Given the description of an element on the screen output the (x, y) to click on. 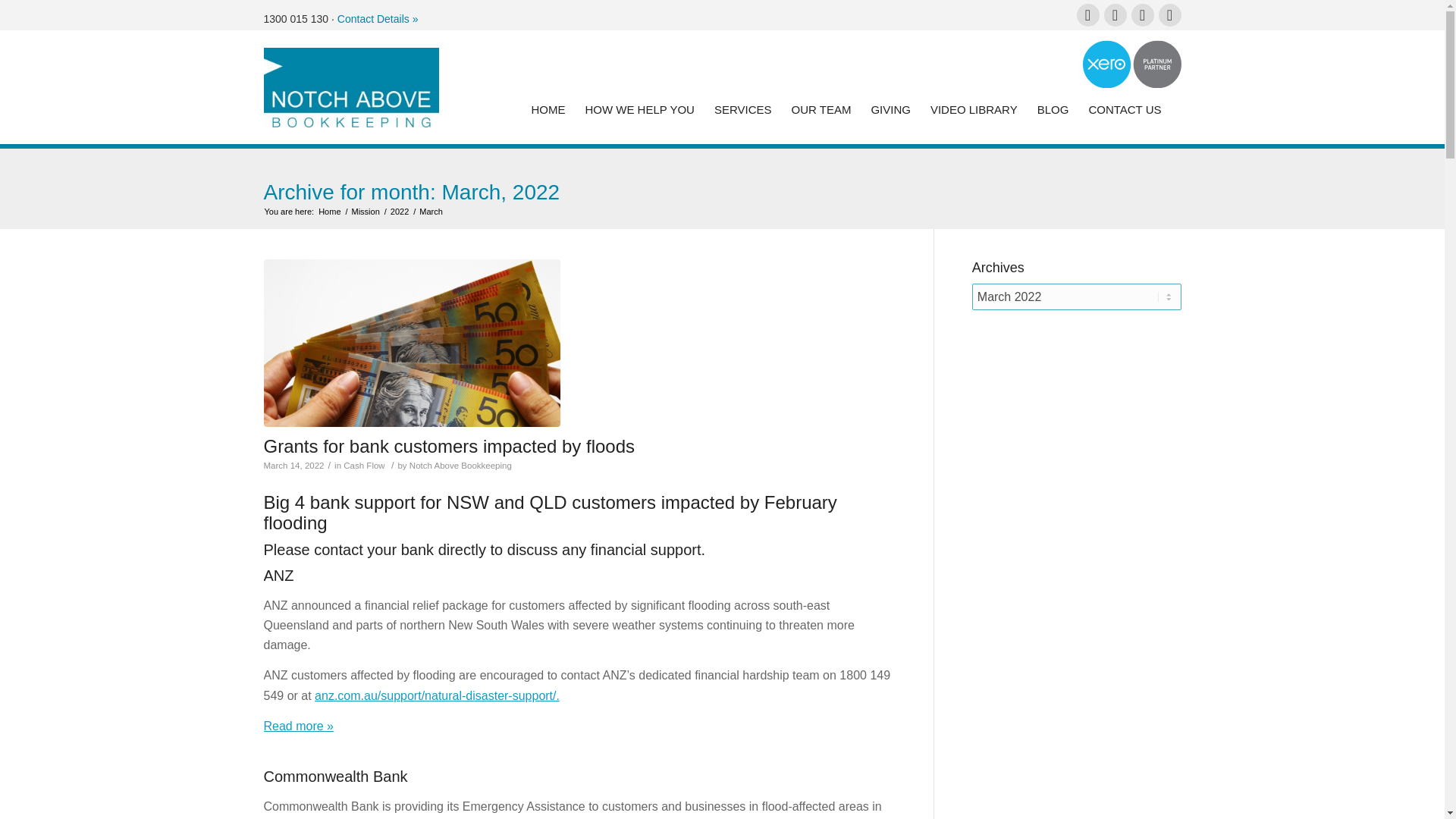
Notch Above Bookkeeping (328, 211)
SERVICES (742, 110)
GIVING (890, 110)
Mission (365, 211)
Youtube (1169, 15)
Grants for bank customers impacted by floods (411, 342)
Home (328, 211)
VIDEO LIBRARY (973, 110)
Posts by Notch Above Bookkeeping (460, 465)
OUR TEAM (820, 110)
